Given the description of an element on the screen output the (x, y) to click on. 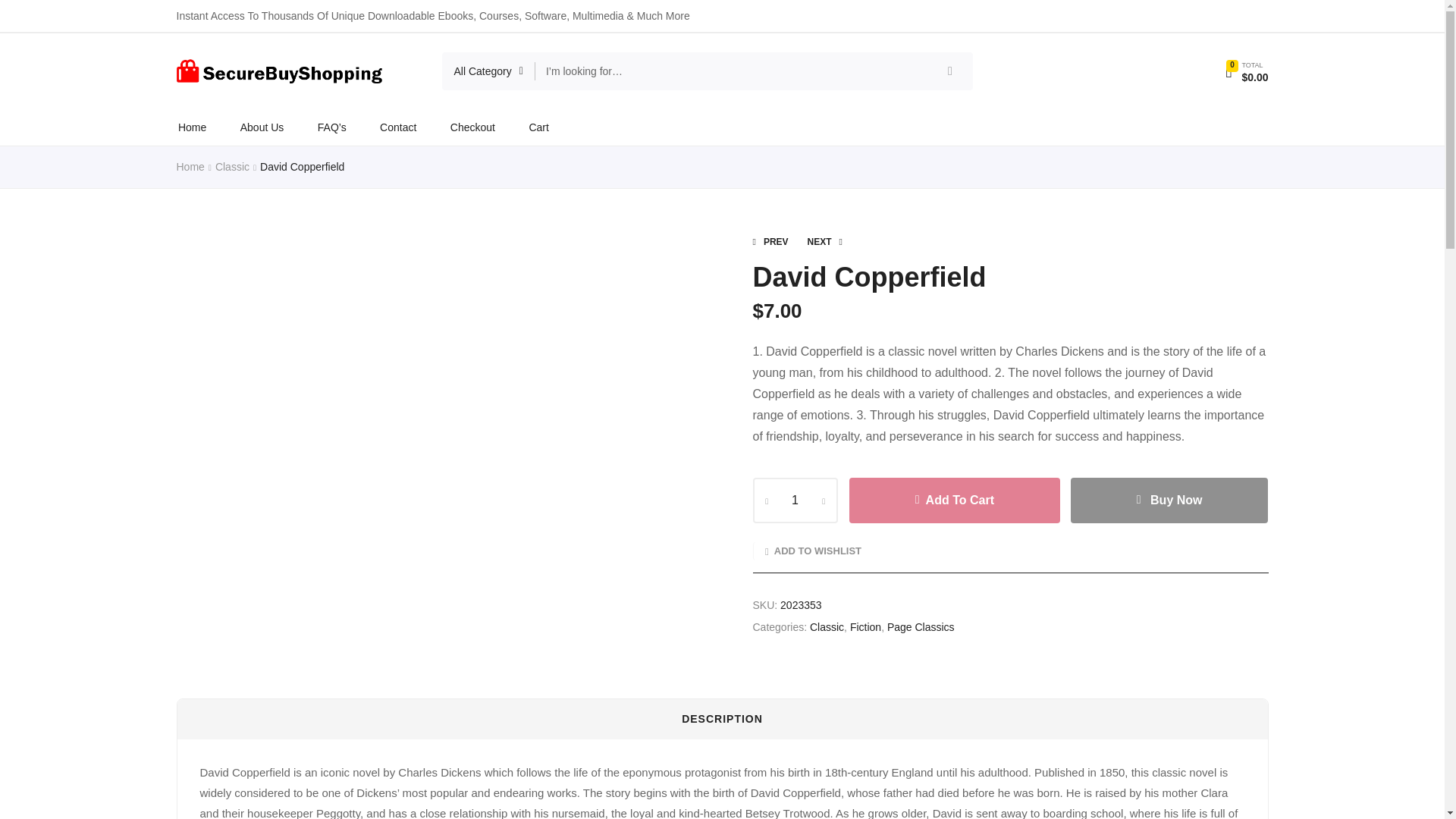
Add To Cart (953, 500)
DESCRIPTION (722, 719)
NEXT (825, 242)
Buy Now (1169, 500)
1 (794, 500)
Checkout (472, 126)
Home (189, 166)
Classic (231, 166)
About Us (261, 126)
ADD TO WISHLIST (806, 551)
